Given the description of an element on the screen output the (x, y) to click on. 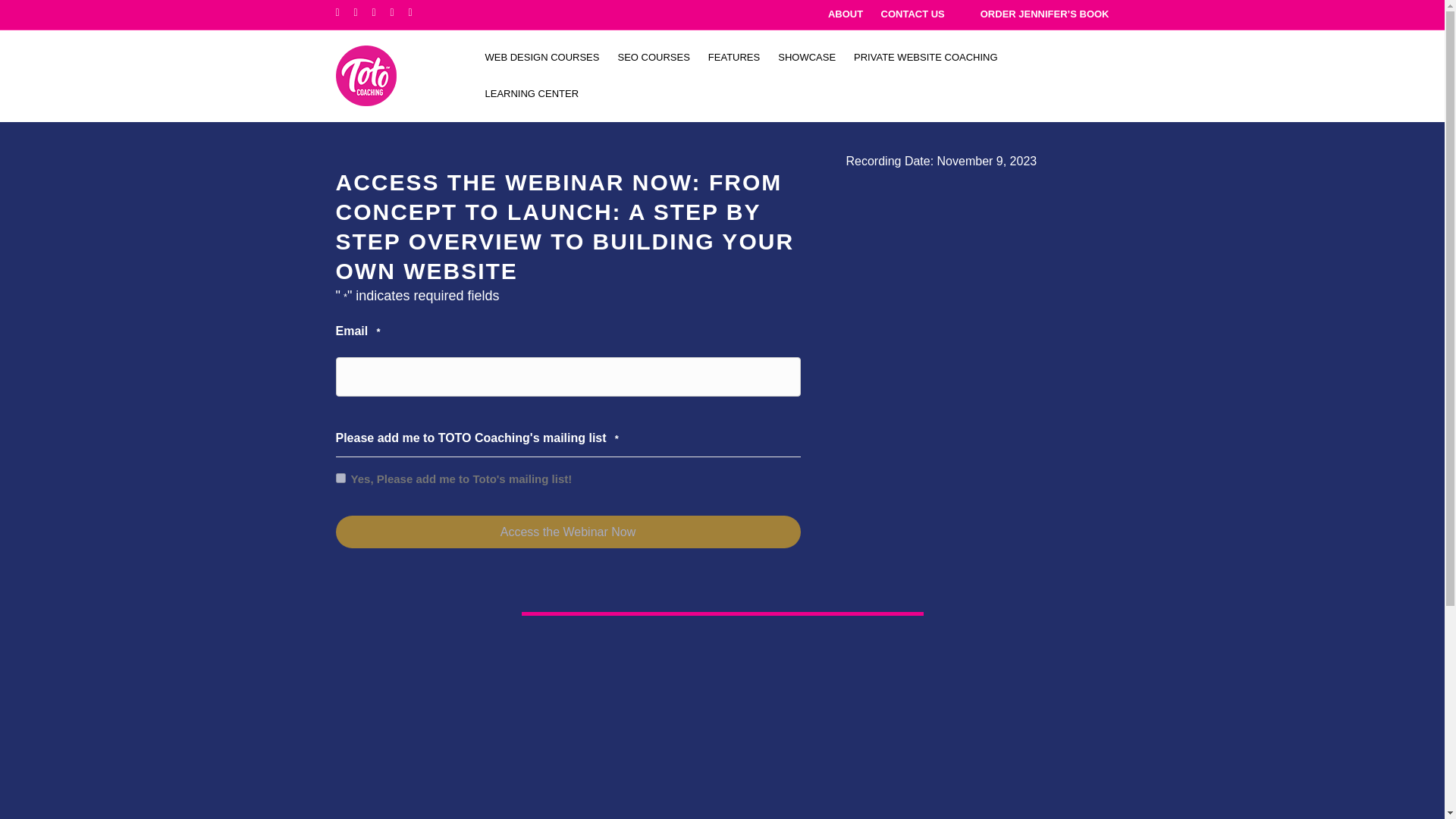
Linkedin (380, 11)
Twitter (362, 11)
SEO COURSES (653, 57)
Yes, Please add me to Toto's mailing list! (339, 478)
PRIVATE WEBSITE COACHING (925, 57)
SHOWCASE (806, 57)
Access the Webinar Now (566, 531)
FEATURES (733, 57)
Access the Webinar Now (566, 531)
LEARNING CENTER (532, 94)
Facebook (343, 11)
WEB DESIGN COURSES (542, 57)
Youtube (398, 11)
CONTACT US (912, 13)
ABOUT (845, 13)
